Given the description of an element on the screen output the (x, y) to click on. 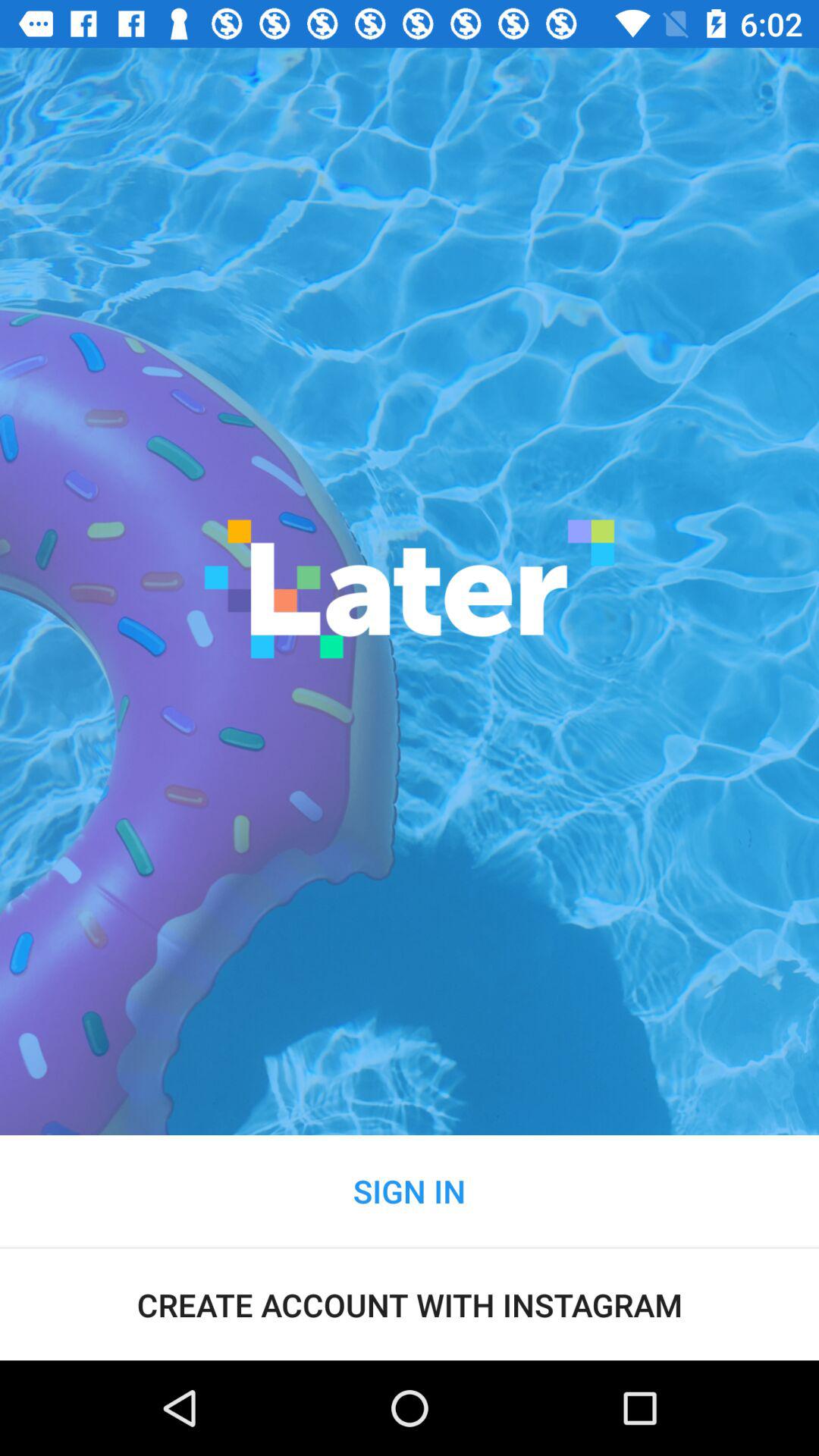
flip to create account with item (409, 1304)
